Given the description of an element on the screen output the (x, y) to click on. 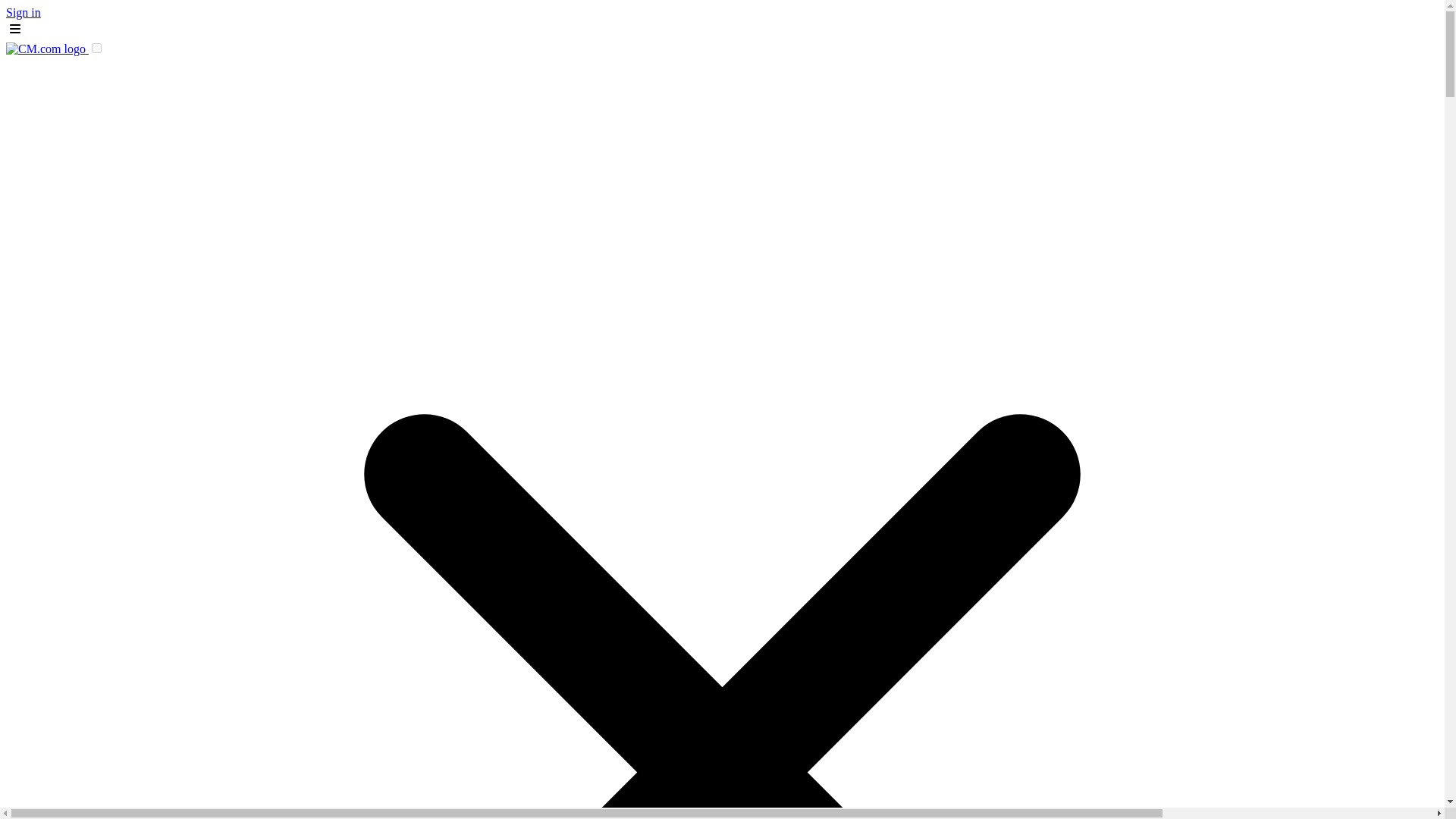
on (96, 48)
Sign in (22, 11)
CM.com (46, 48)
menu (14, 28)
